Given the description of an element on the screen output the (x, y) to click on. 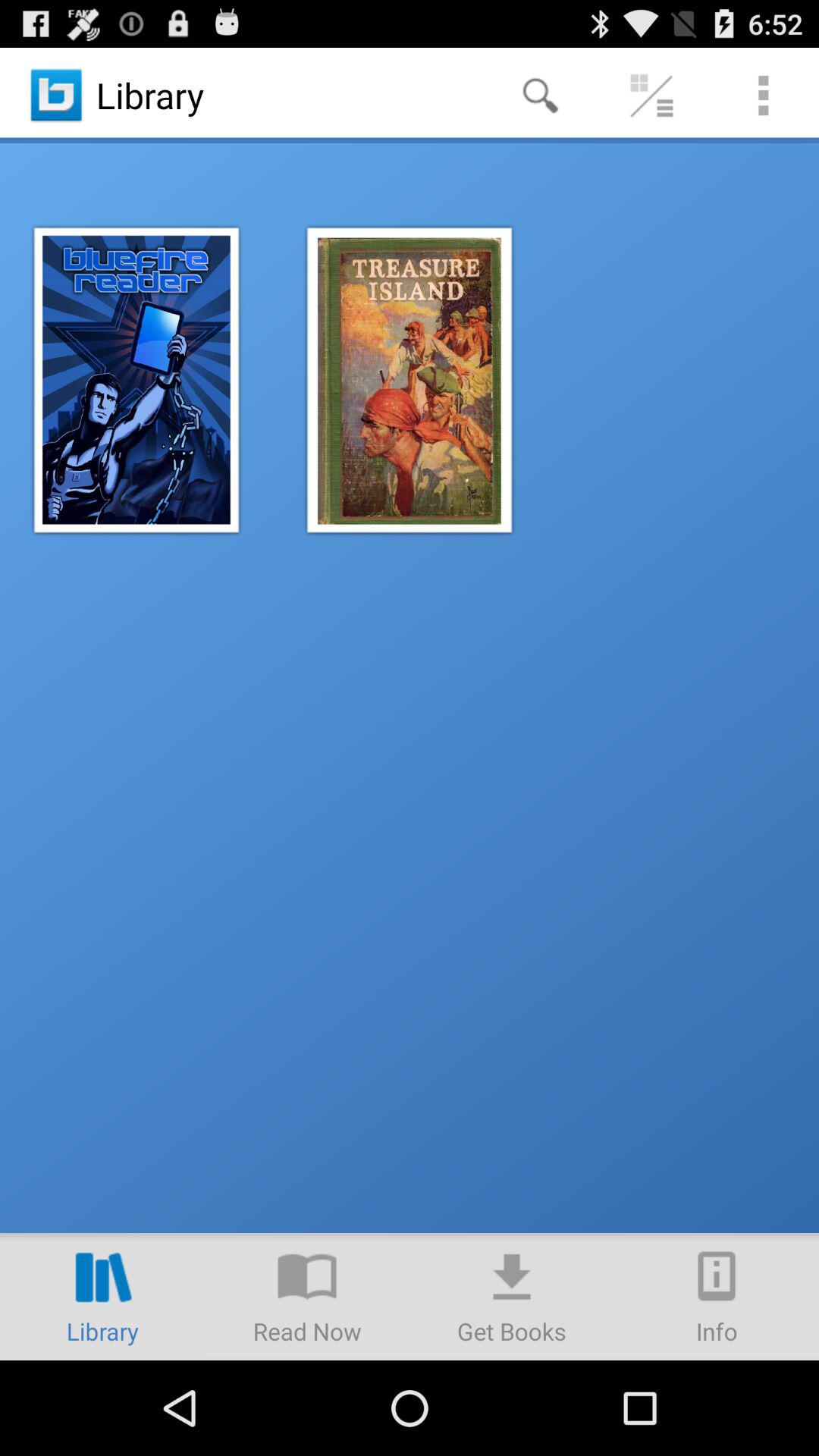
download option (511, 1296)
